Given the description of an element on the screen output the (x, y) to click on. 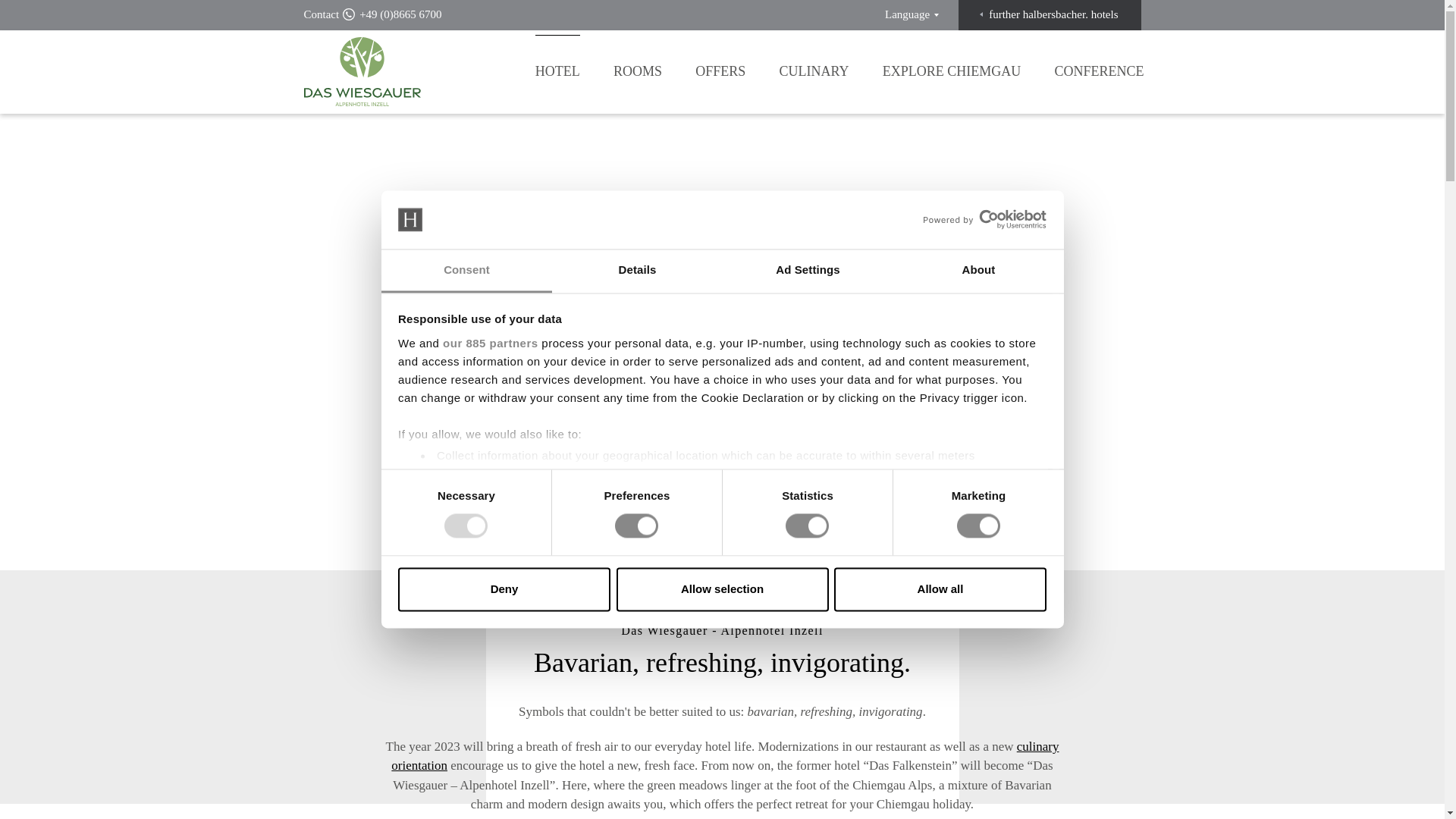
Ad Settings (807, 270)
our 885 partners (490, 342)
Details (636, 270)
details section (927, 494)
About (978, 270)
Book online (852, 515)
Consent (465, 270)
